Given the description of an element on the screen output the (x, y) to click on. 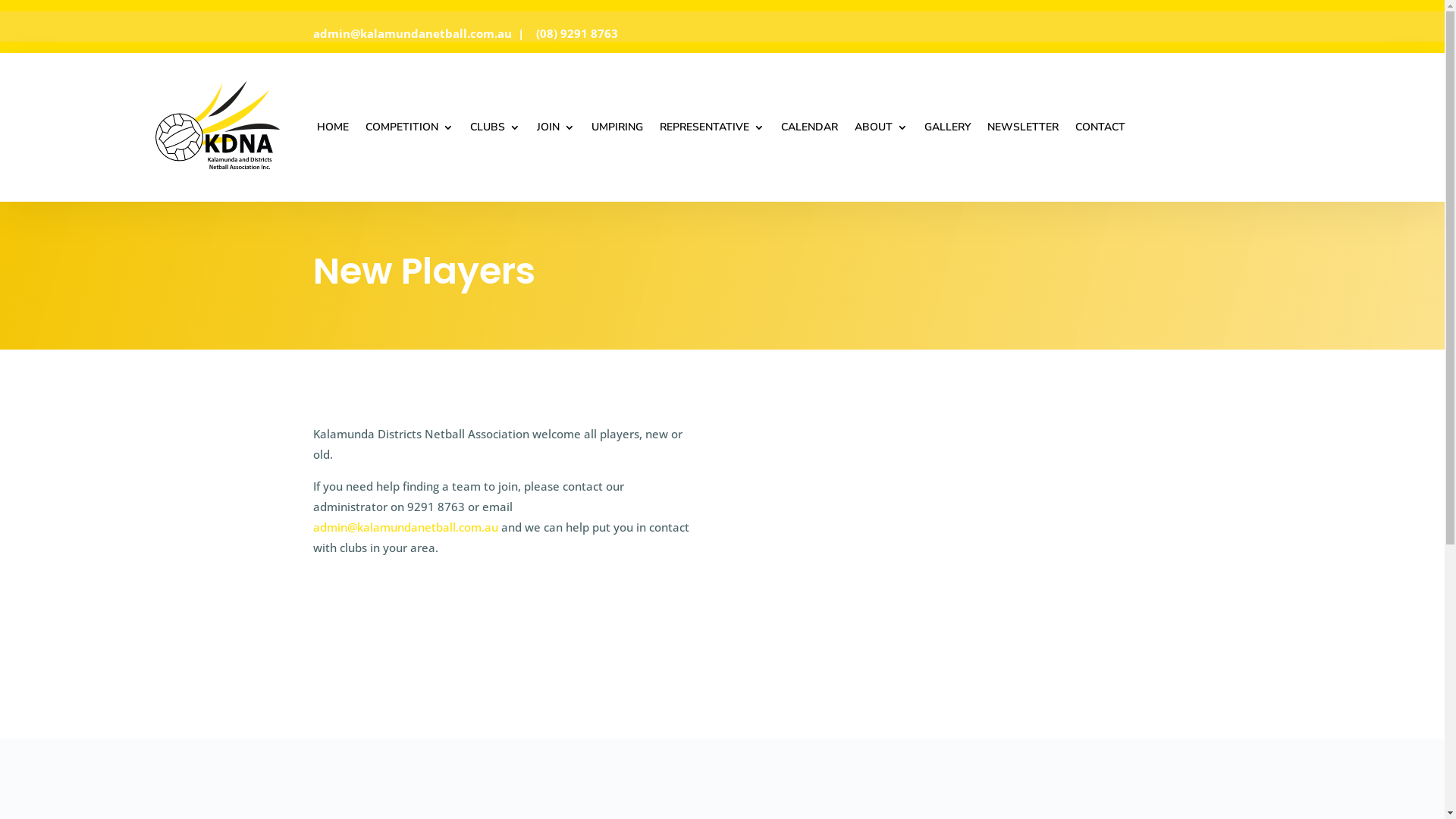
admin@kalamundanetball.com.au  Element type: text (413, 32)
JOIN Element type: text (555, 127)
HOME Element type: text (332, 127)
CONTACT Element type: text (1100, 127)
CALENDAR Element type: text (809, 127)
admin@kalamundanetball.com.au Element type: text (406, 526)
REPRESENTATIVE Element type: text (711, 127)
UMPIRING Element type: text (617, 127)
COMPETITION Element type: text (409, 127)
CLUBS Element type: text (495, 127)
GALLERY Element type: text (946, 127)
NEWSLETTER Element type: text (1022, 127)
ABOUT Element type: text (879, 127)
